Given the description of an element on the screen output the (x, y) to click on. 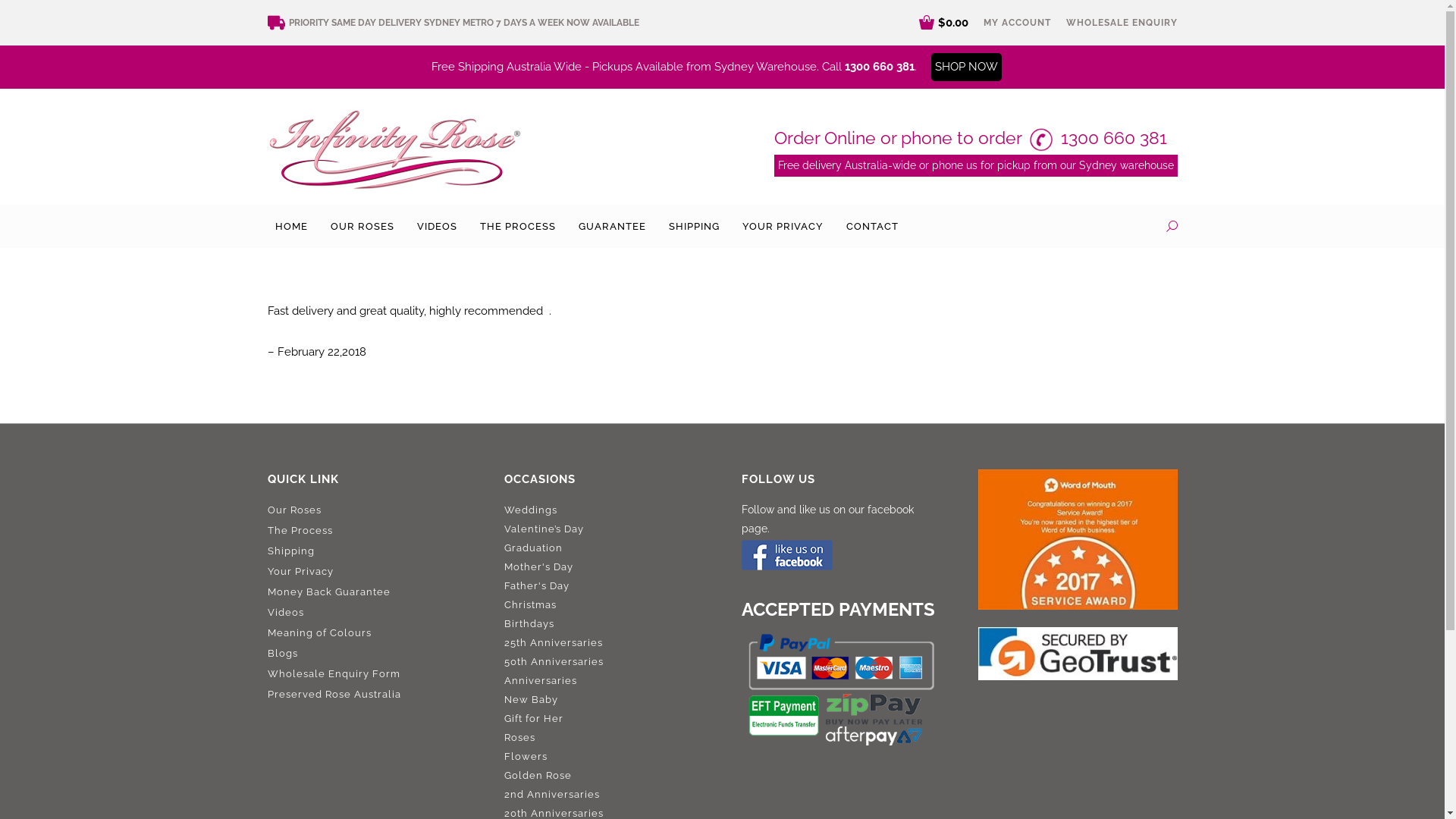
Weddings Element type: text (530, 509)
WHOLESALE ENQUIRY Element type: text (1121, 22)
SHOP NOW Element type: text (966, 67)
50th Anniversaries Element type: text (553, 661)
The Process Element type: text (366, 530)
Birthdays Element type: text (529, 623)
MY ACCOUNT Element type: text (1016, 22)
YOUR PRIVACY Element type: text (782, 225)
Your Privacy Element type: text (366, 571)
Graduation Element type: text (533, 547)
Mother's Day Element type: text (538, 566)
$0.00 Element type: text (943, 22)
25th Anniversaries Element type: text (553, 642)
Gift for Her Element type: text (533, 718)
Money Back Guarantee Element type: text (366, 592)
Meaning of Colours Element type: text (366, 633)
Blogs Element type: text (366, 653)
1300 660 381 Element type: text (879, 66)
1300 660 381 Element type: text (1113, 137)
HOME Element type: text (290, 225)
SHIPPING Element type: text (694, 225)
Christmas Element type: text (530, 604)
Roses Element type: text (519, 737)
Father's Day Element type: text (536, 585)
Flowers Element type: text (525, 756)
CONTACT Element type: text (872, 225)
Anniversaries Element type: text (540, 680)
OUR ROSES Element type: text (362, 225)
Preserved Rose Australia Element type: text (366, 694)
GUARANTEE Element type: text (611, 225)
VIDEOS Element type: text (436, 225)
Wholesale Enquiry Form Element type: text (366, 674)
Videos Element type: text (366, 612)
Go! Element type: text (23, 15)
Shipping Element type: text (366, 551)
2nd Anniversaries Element type: text (551, 794)
THE PROCESS Element type: text (516, 225)
Golden Rose Element type: text (537, 775)
Our Roses Element type: text (366, 510)
New Baby Element type: text (531, 699)
Order Online Element type: text (824, 137)
